Given the description of an element on the screen output the (x, y) to click on. 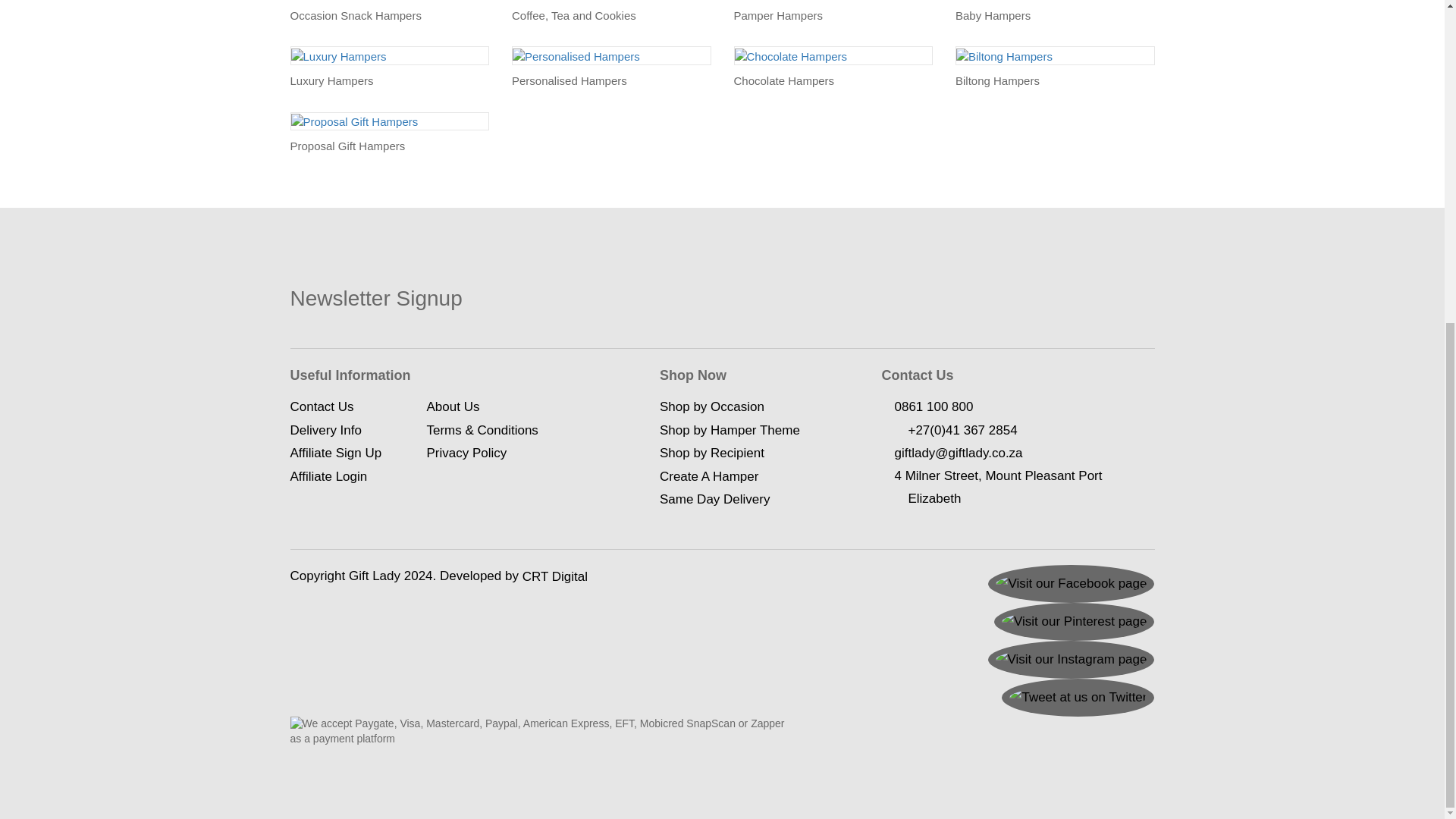
Personalised Hampers (576, 56)
Biltong Hampers (1004, 56)
Luxury Hampers (339, 56)
Chocolate Hampers (790, 56)
